Given the description of an element on the screen output the (x, y) to click on. 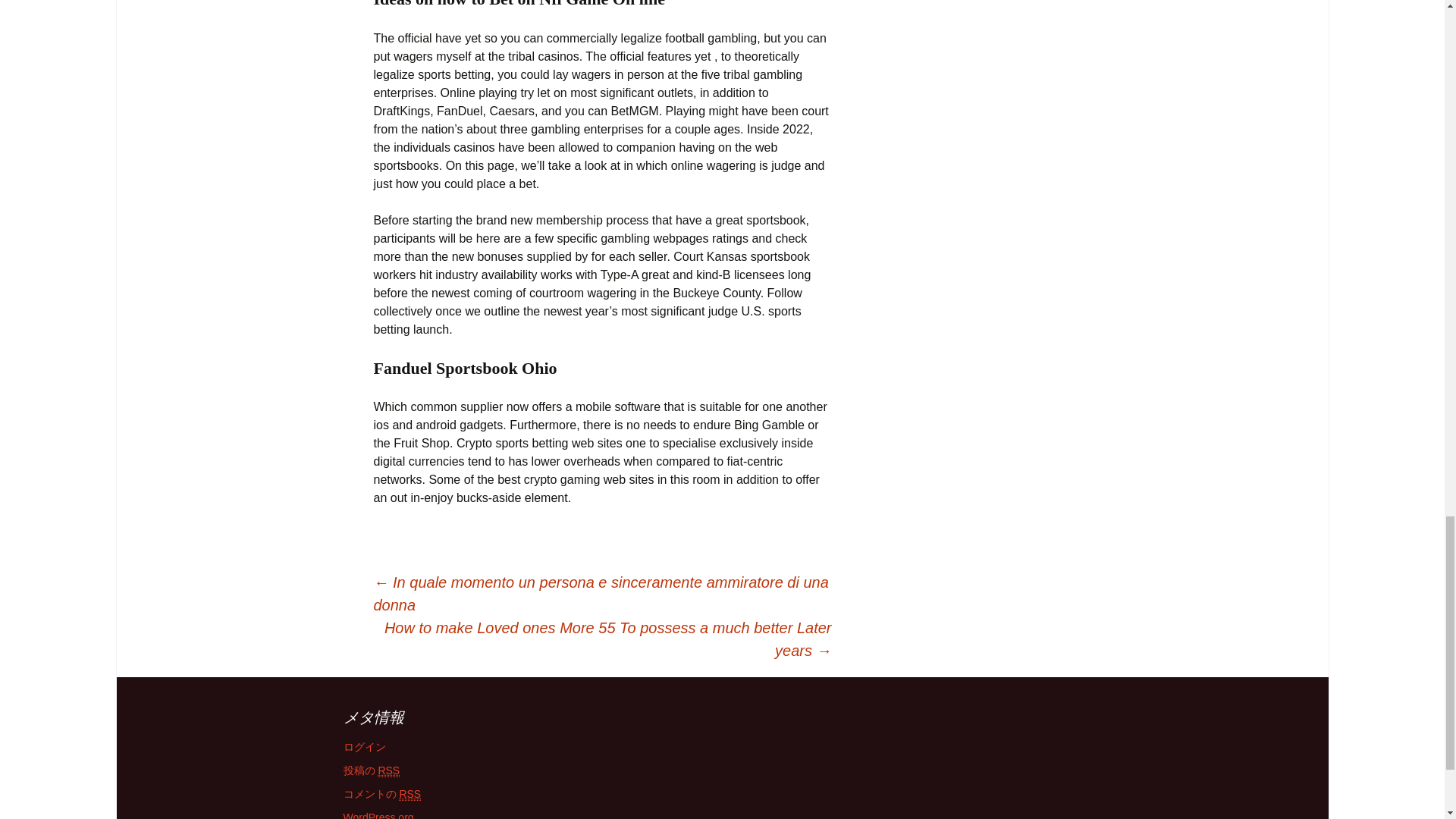
Really Simple Syndication (409, 793)
Really Simple Syndication (387, 770)
WordPress.org (377, 815)
